Given the description of an element on the screen output the (x, y) to click on. 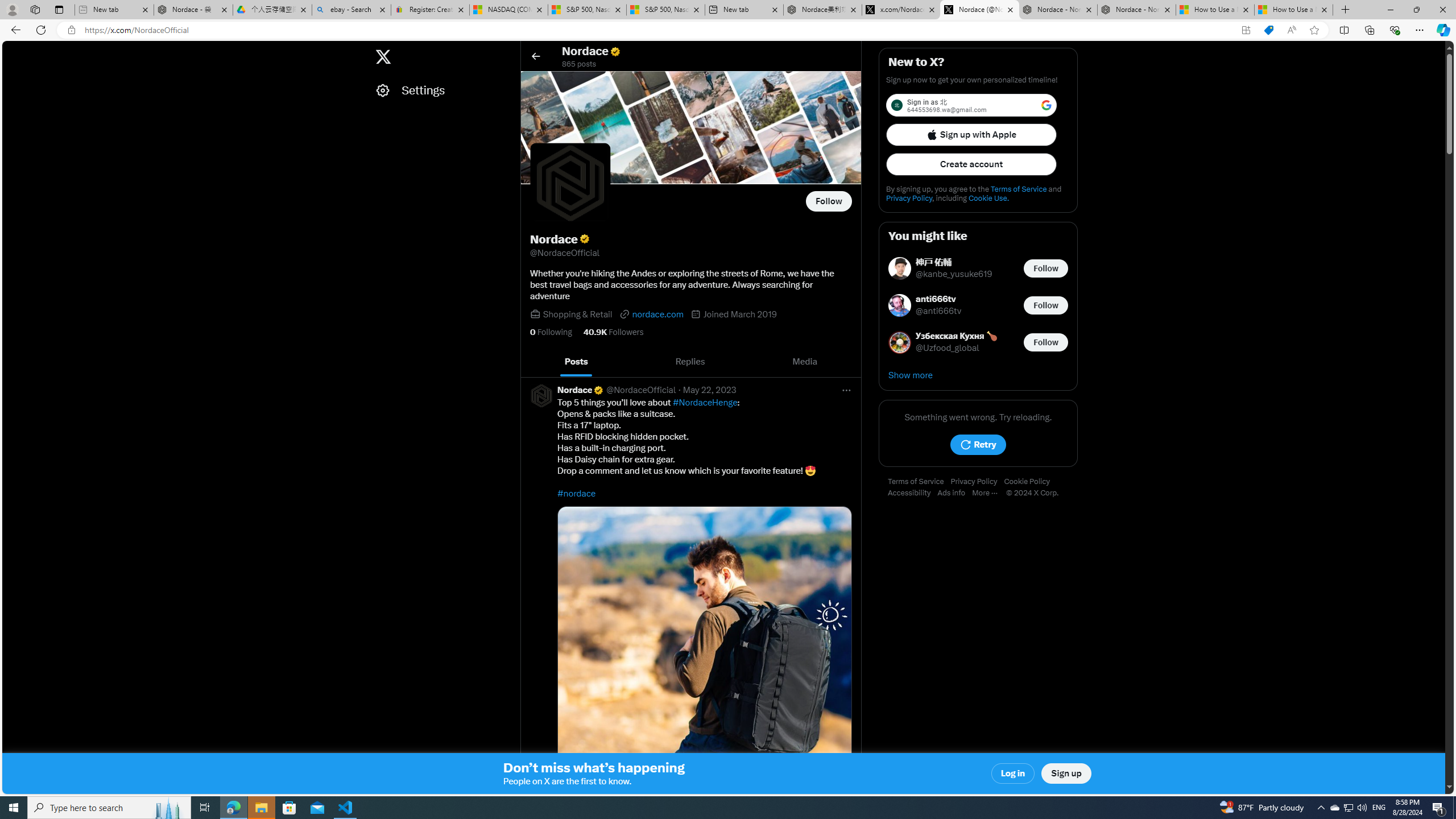
Nordace (@NordaceOfficial) / X (979, 9)
@Uzfood_global (947, 348)
May 22, 2023 (709, 389)
Square profile picture and Opens profile photo (570, 182)
Shopping in Microsoft Edge (1268, 29)
Verified account (598, 389)
More (989, 492)
Cookie Policy (1030, 481)
Sign up with Apple (971, 134)
Media (804, 361)
#nordace (576, 493)
